Given the description of an element on the screen output the (x, y) to click on. 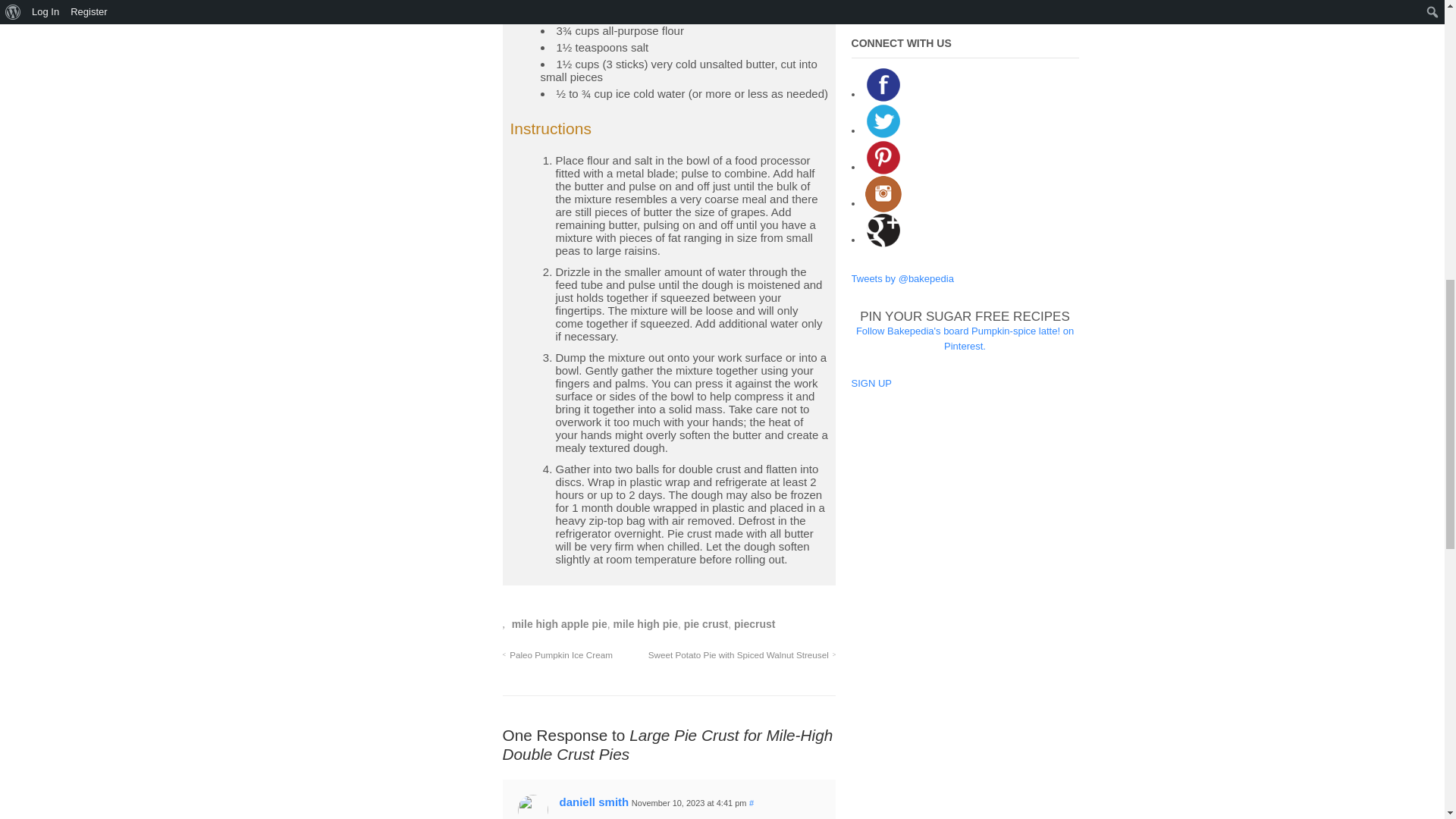
Paleo Pumpkin Ice Cream (557, 655)
piecrust (753, 623)
mile high apple pie (559, 623)
daniell smith (593, 801)
Follow Bakepedia's board Pumpkin-spice latte! on Pinterest. (965, 338)
SIGN UP (871, 383)
Sweet Potato Pie with Spiced Walnut Streusel (741, 655)
pie crust (706, 623)
mile high pie (645, 623)
